Given the description of an element on the screen output the (x, y) to click on. 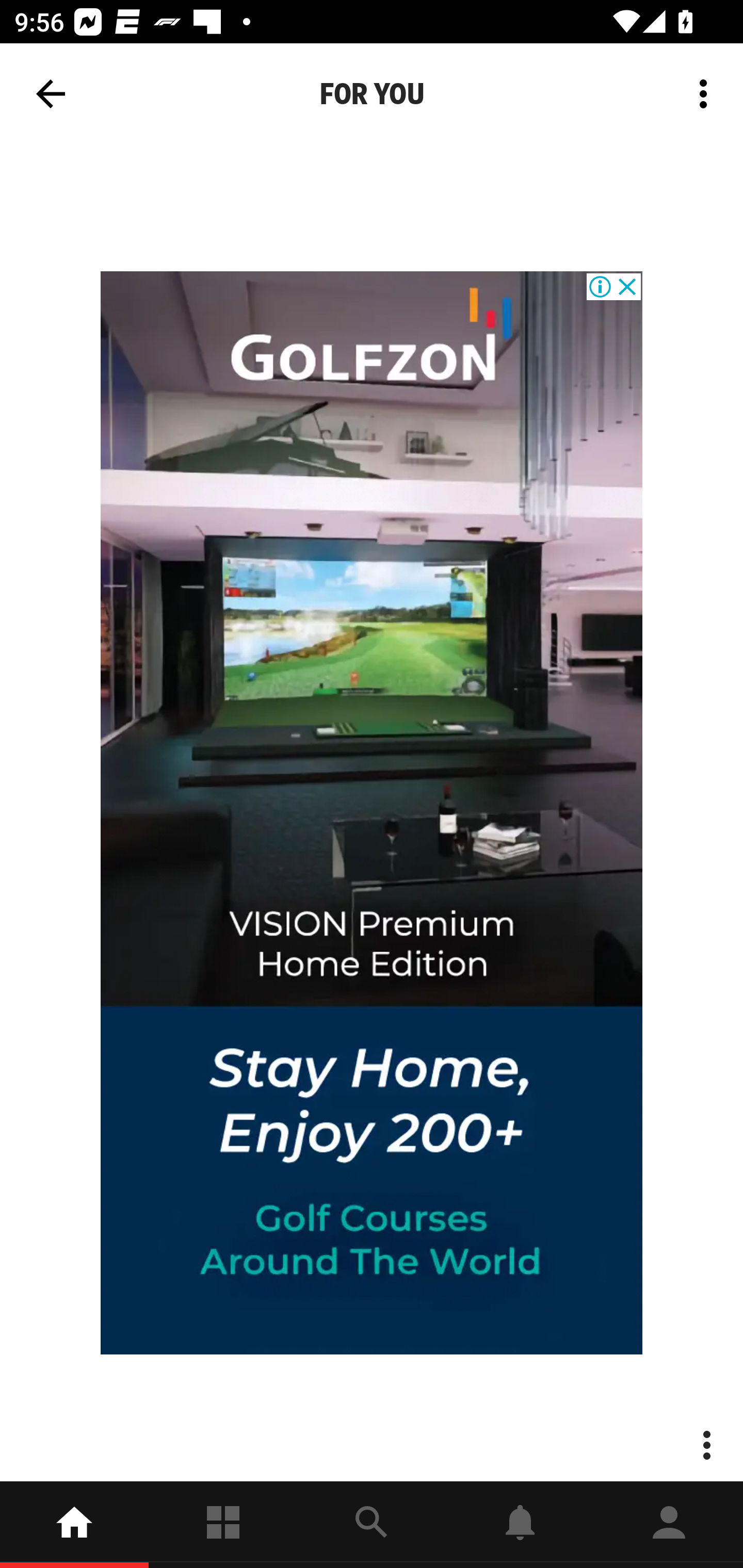
Back (50, 93)
FOR YOU (371, 93)
More options (706, 93)
golfzonhk (371, 812)
home (74, 1524)
Following (222, 1524)
explore (371, 1524)
Notifications (519, 1524)
Profile (668, 1524)
